Given the description of an element on the screen output the (x, y) to click on. 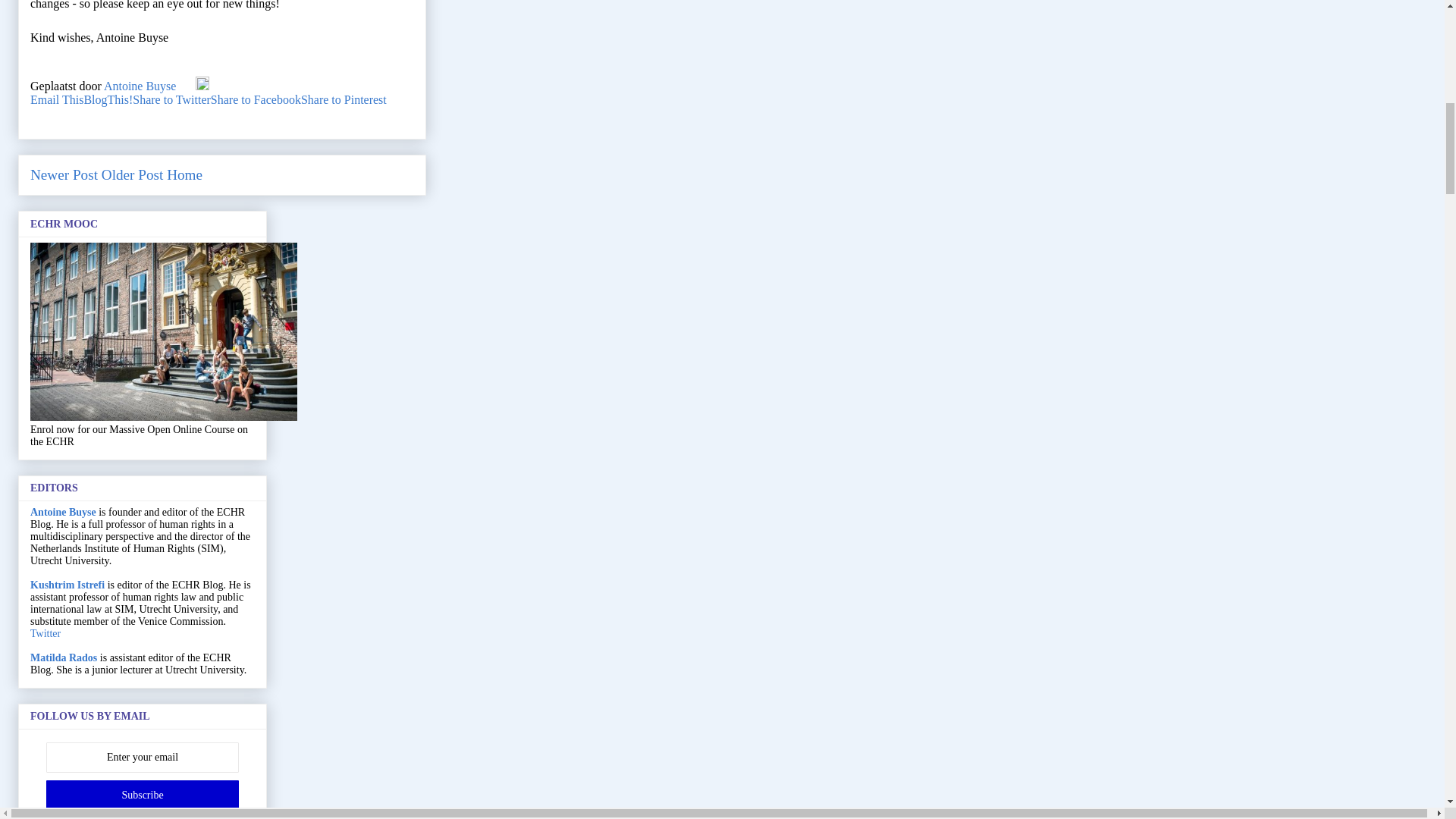
Antoine Buyse (63, 511)
Subscribe (143, 795)
Email This (56, 99)
Share to Pinterest (344, 99)
Antoine Buyse (141, 85)
Matilda Rados (63, 657)
Twitter (45, 633)
Edit Post (202, 85)
BlogThis! (107, 99)
Email Post (187, 85)
Share to Facebook (256, 99)
author profile (141, 85)
Share to Pinterest (344, 99)
Newer Post (63, 174)
Newer Post (63, 174)
